Given the description of an element on the screen output the (x, y) to click on. 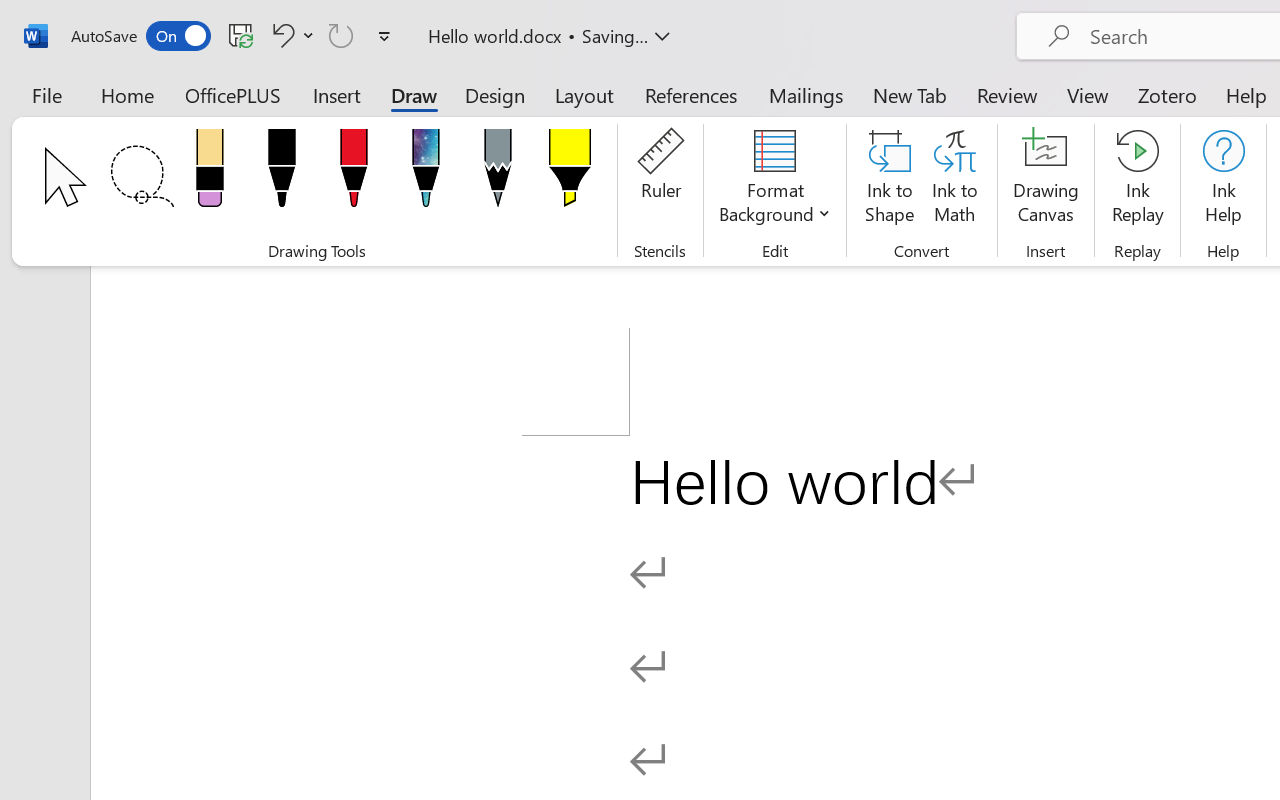
Pen: Black, 0.5 mm (281, 173)
New Tab (909, 94)
Zotero (1166, 94)
Pencil: Gray, 1 mm (497, 173)
Customize Quick Access Toolbar (384, 35)
Mailings (806, 94)
Quick Access Toolbar (233, 36)
Undo Click and Type Formatting (290, 35)
AutoSave (140, 35)
